Given the description of an element on the screen output the (x, y) to click on. 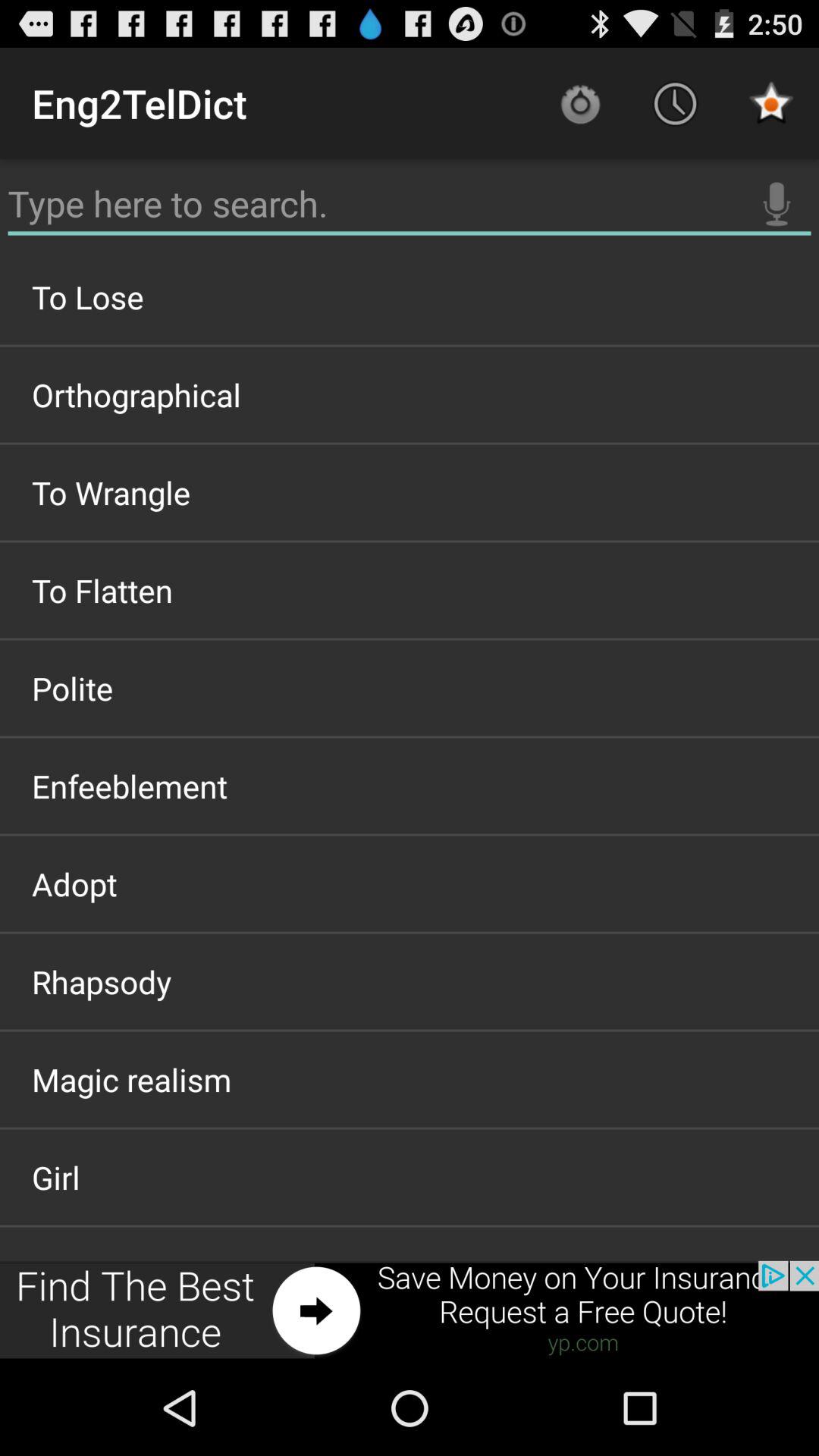
open the icon below the orthographical icon (409, 492)
